Given the description of an element on the screen output the (x, y) to click on. 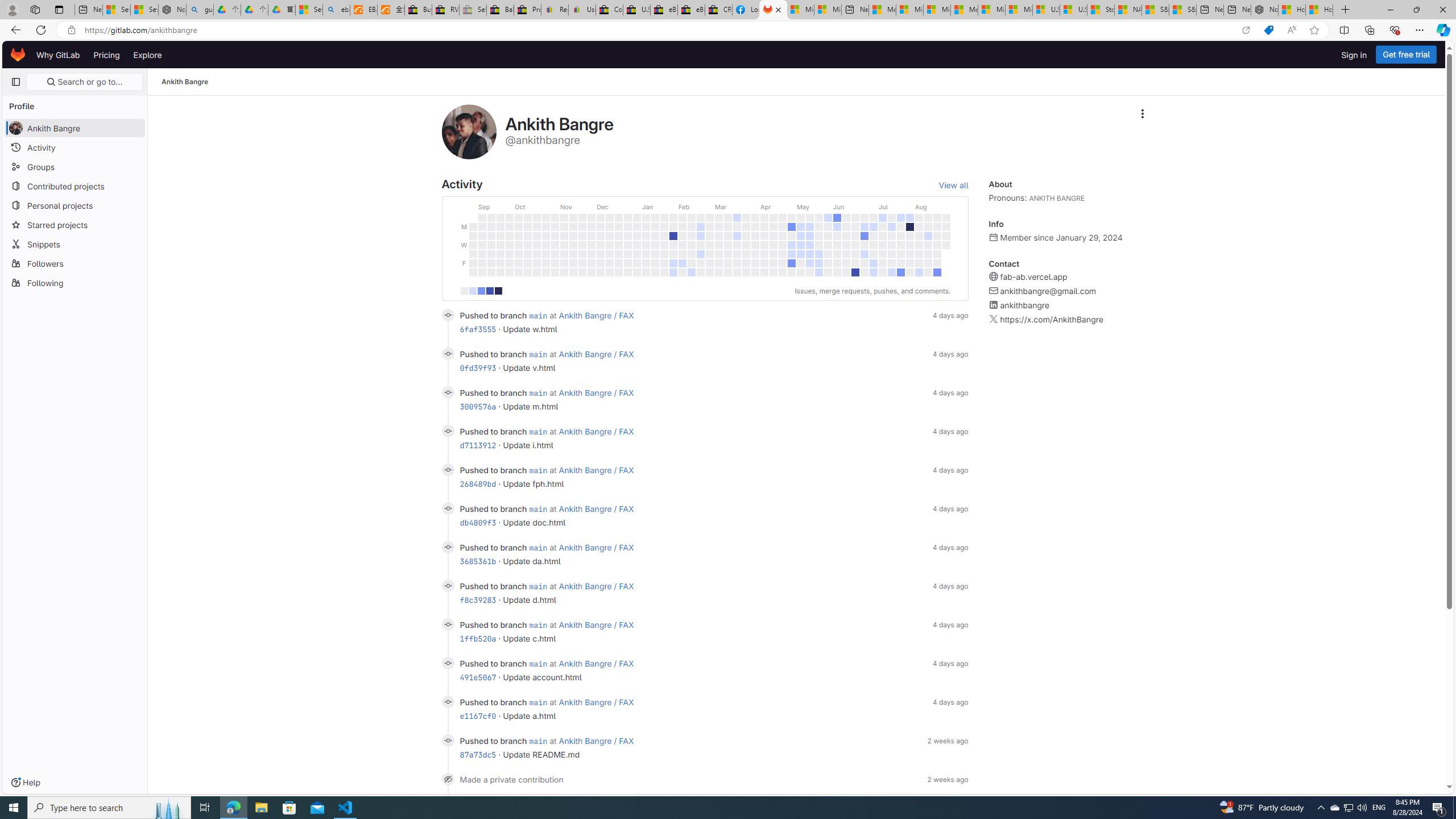
Sign in (1353, 54)
User profile picture (468, 131)
6faf3555 (478, 329)
Address and search bar (658, 29)
